Given the description of an element on the screen output the (x, y) to click on. 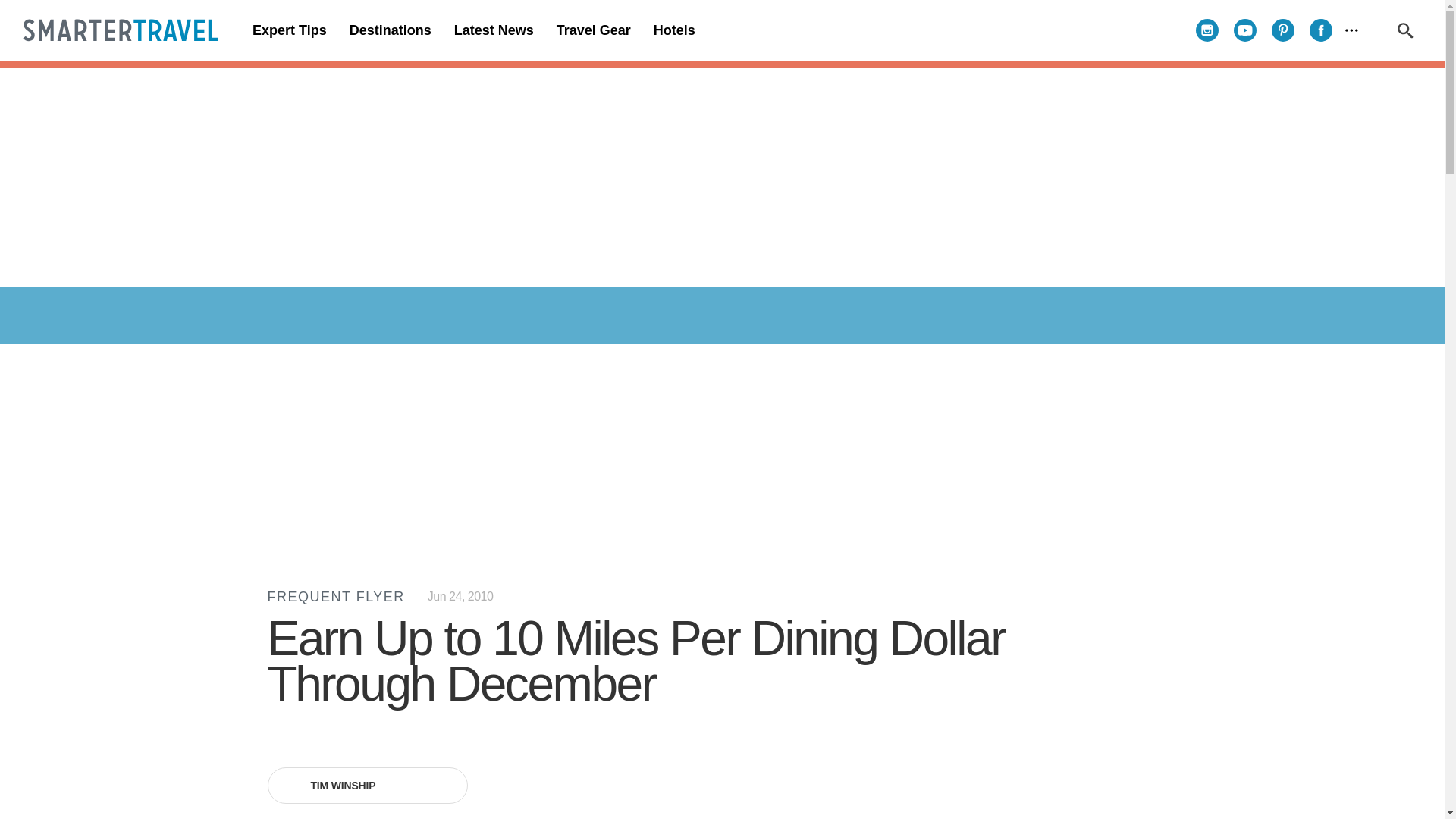
Latest News (493, 30)
Destinations (389, 30)
Expert Tips (289, 30)
Travel Gear (593, 30)
Hotels (674, 30)
